Given the description of an element on the screen output the (x, y) to click on. 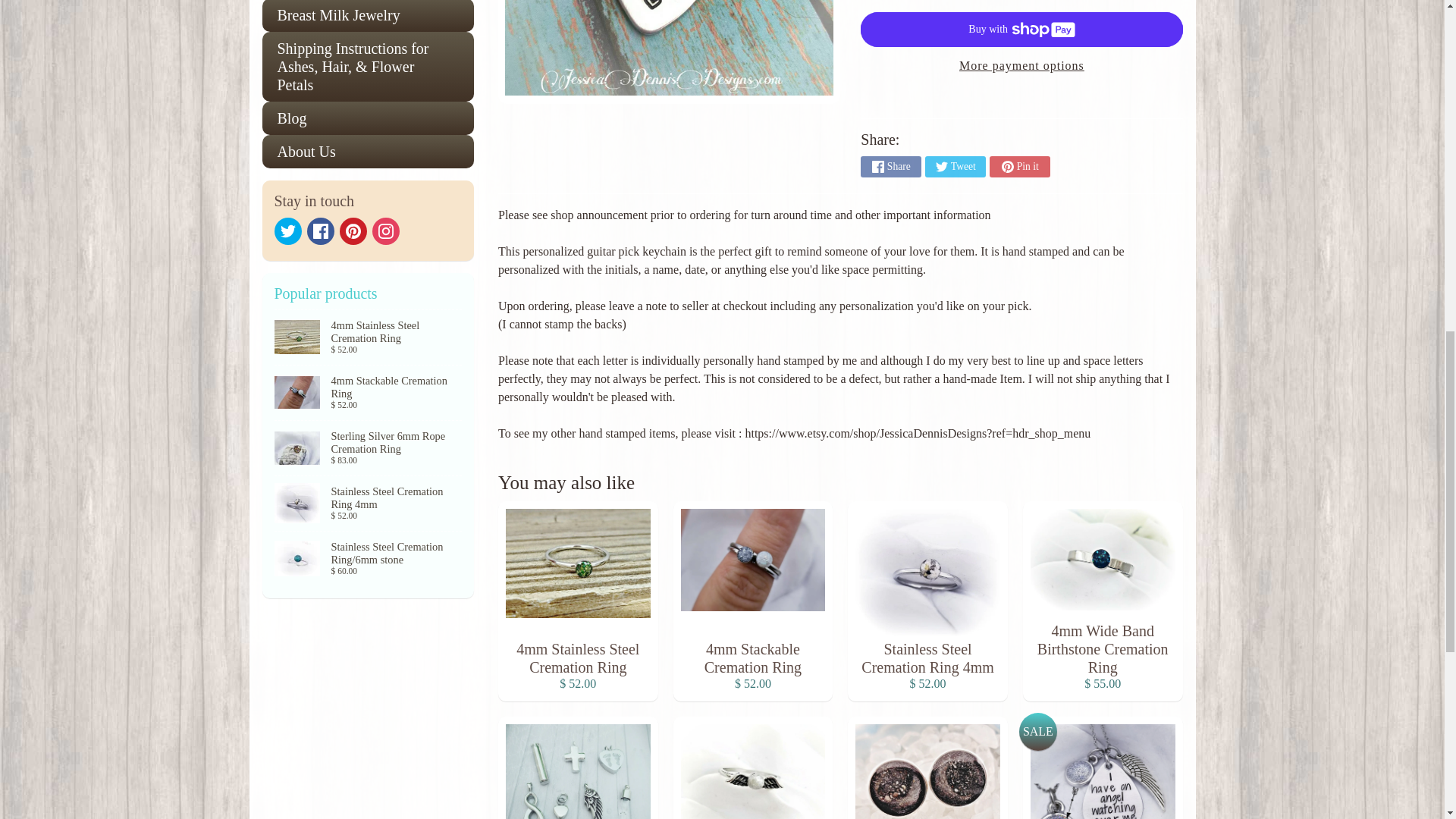
Share on Facebook (890, 2)
Sterling Silver 6mm Rope Cremation Ring (369, 219)
Facebook (319, 58)
Stainless Steel Cremation Ring 4mm (369, 330)
Pinterest (352, 58)
Tweet on Twitter (954, 2)
Instagram (384, 58)
Pin on Pinterest (1019, 2)
4mm Stackable Cremation Ring (369, 275)
4mm Stainless Steel Cremation Ring (369, 164)
